Given the description of an element on the screen output the (x, y) to click on. 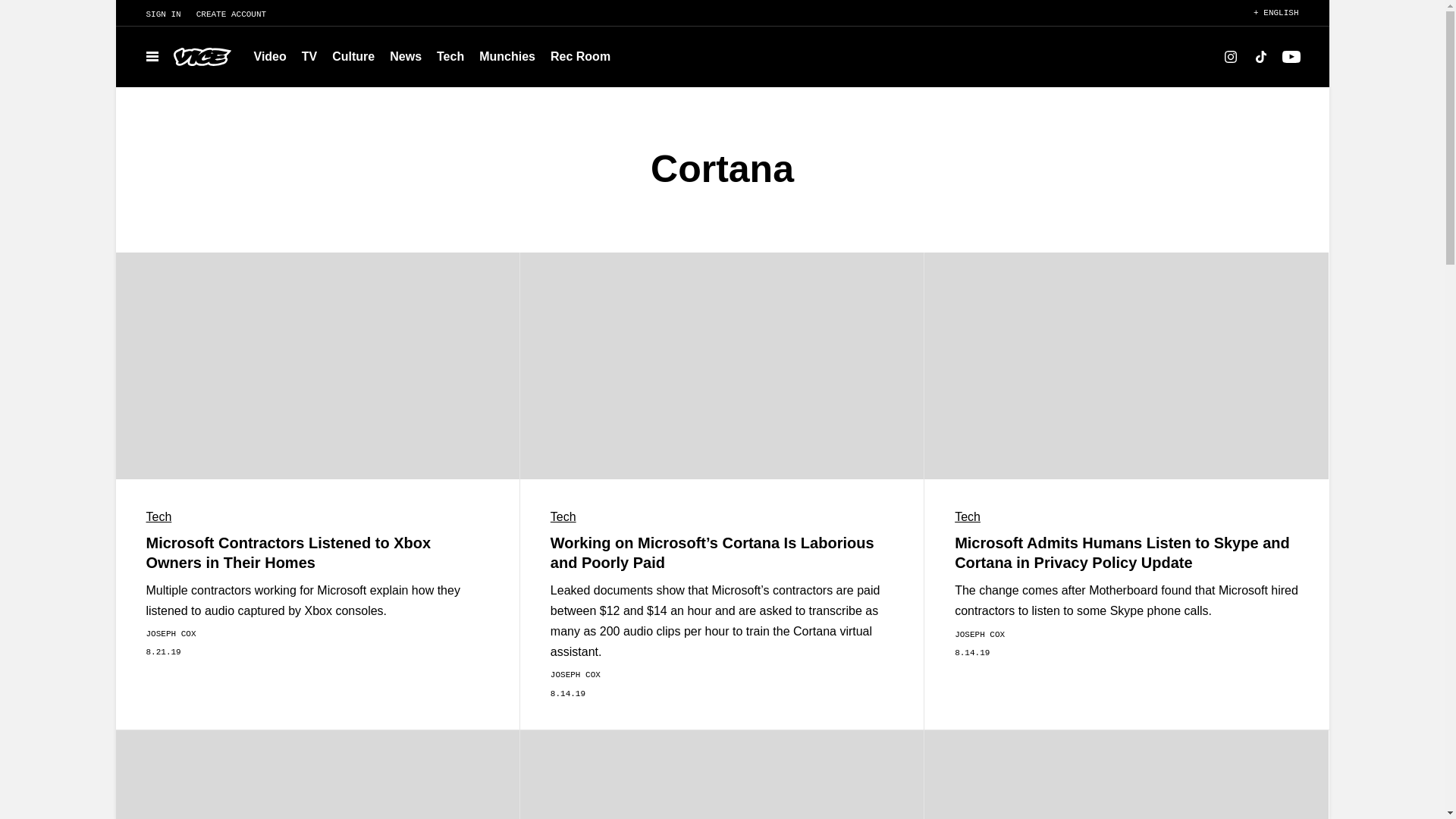
CREATE ACCOUNT (238, 13)
Tech (450, 56)
News (405, 56)
Munchies (507, 56)
Video (270, 56)
TV (309, 56)
SIGN IN (155, 13)
Rec Room (580, 56)
Culture (352, 56)
